Given the description of an element on the screen output the (x, y) to click on. 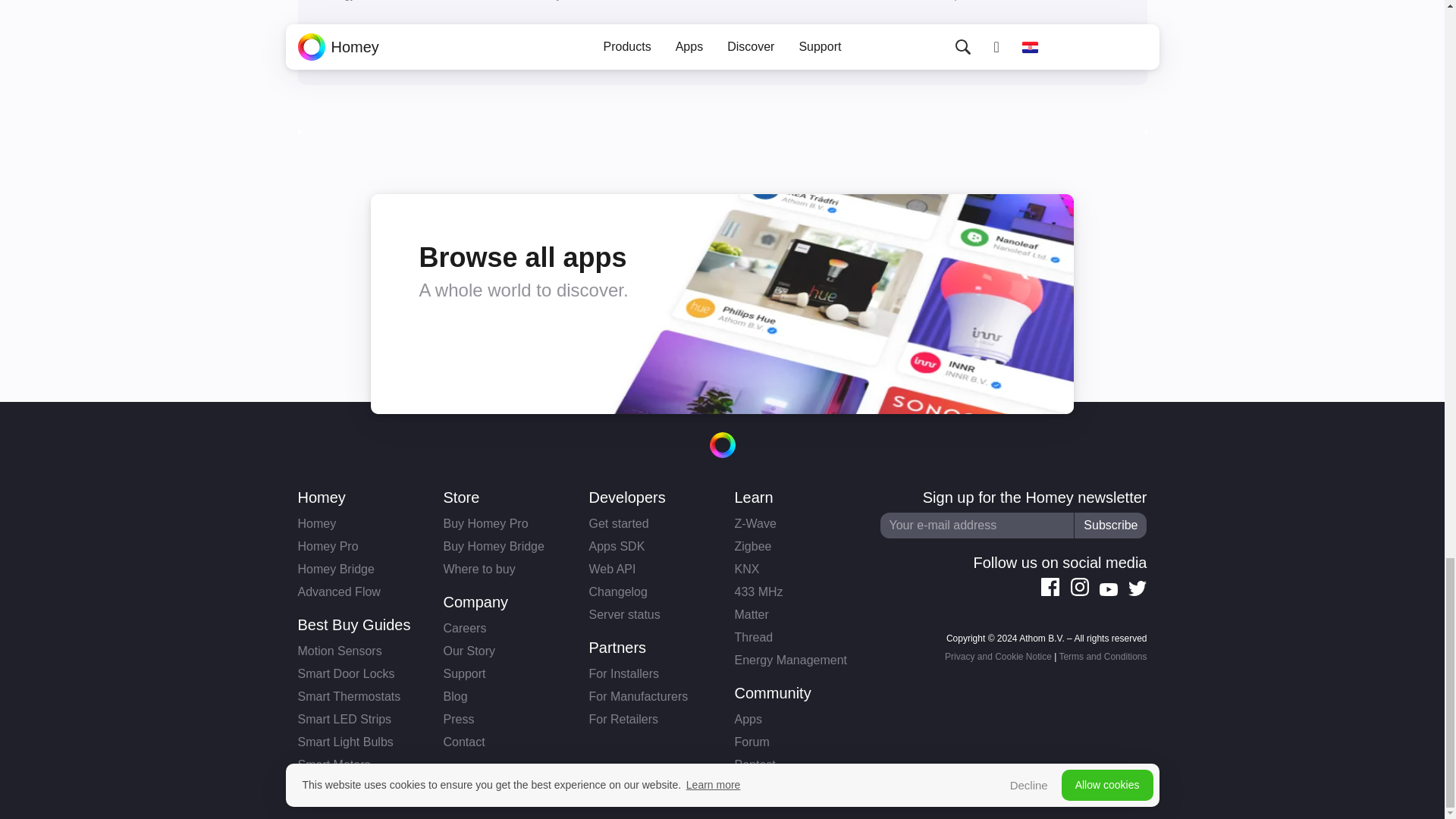
Subscribe (1110, 525)
